Given the description of an element on the screen output the (x, y) to click on. 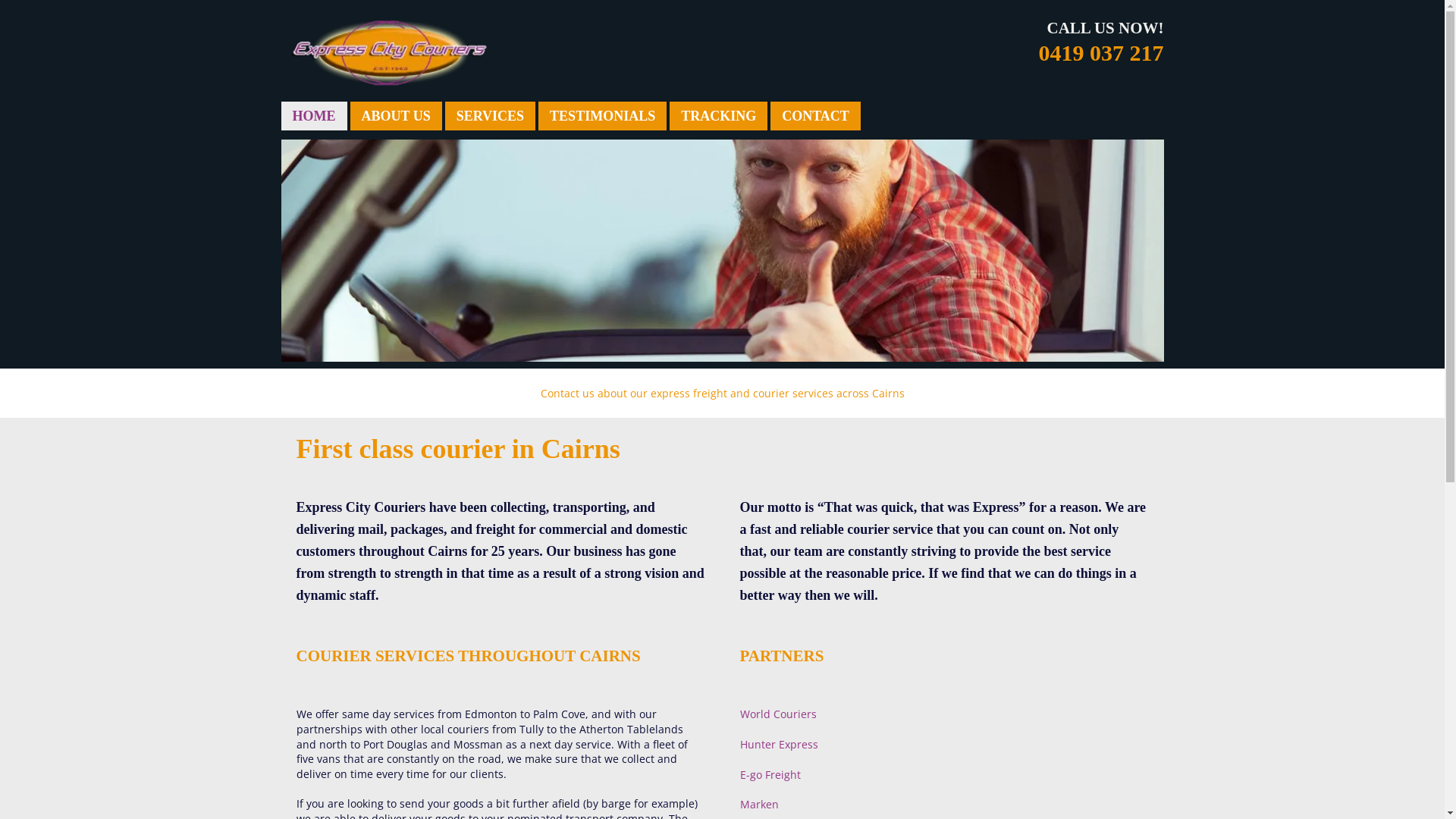
E-go Freight Element type: text (770, 774)
TRACKING Element type: text (718, 115)
World Couriers Element type: text (778, 713)
Hunter Express Element type: text (779, 744)
HOME Element type: text (313, 115)
SERVICES Element type: text (490, 115)
0419 037 217 Element type: text (1101, 52)
TESTIMONIALS Element type: text (602, 115)
CONTACT Element type: text (815, 115)
ABOUT US Element type: text (394, 115)
